Given the description of an element on the screen output the (x, y) to click on. 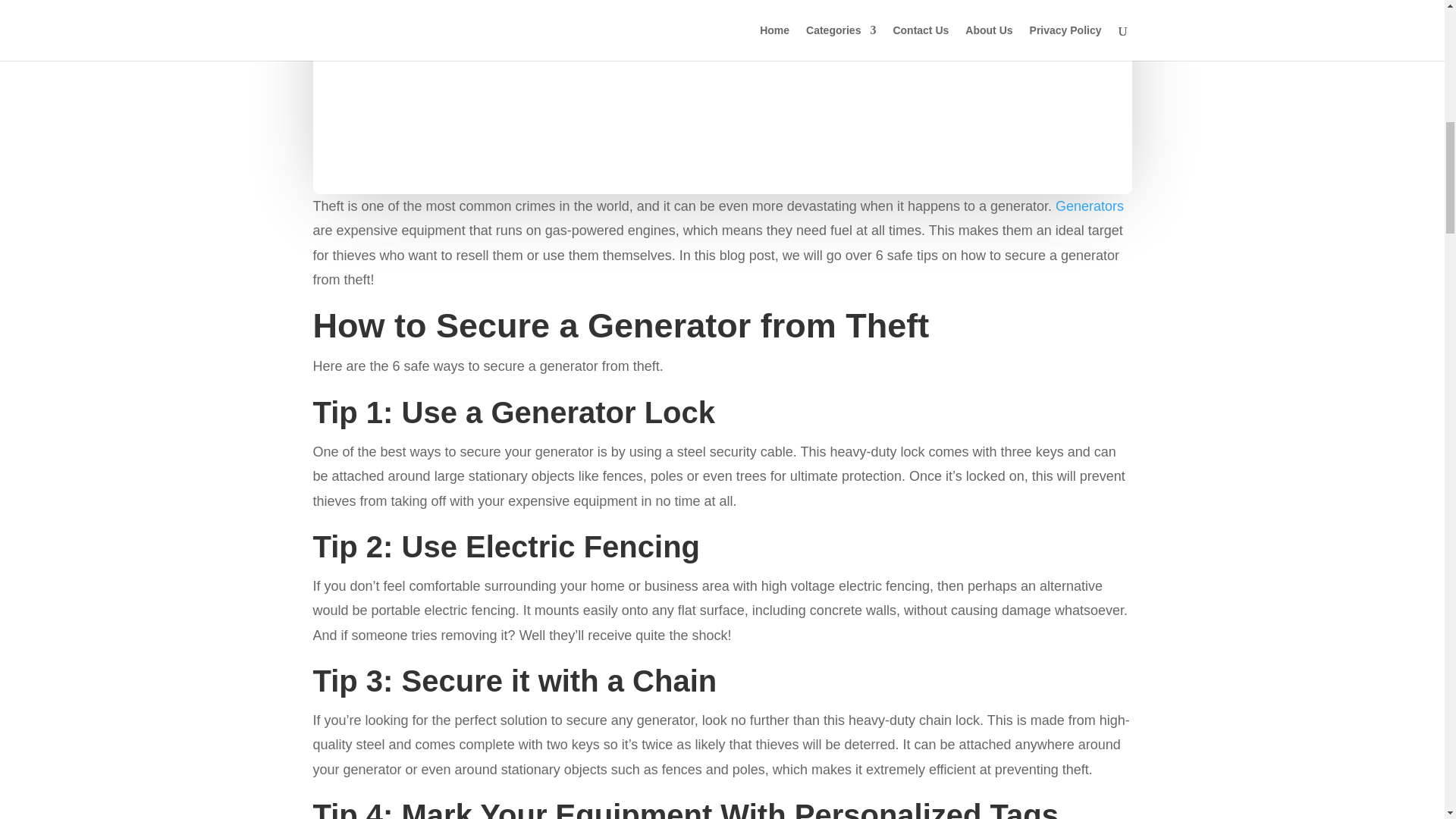
Generators (1087, 206)
